Given the description of an element on the screen output the (x, y) to click on. 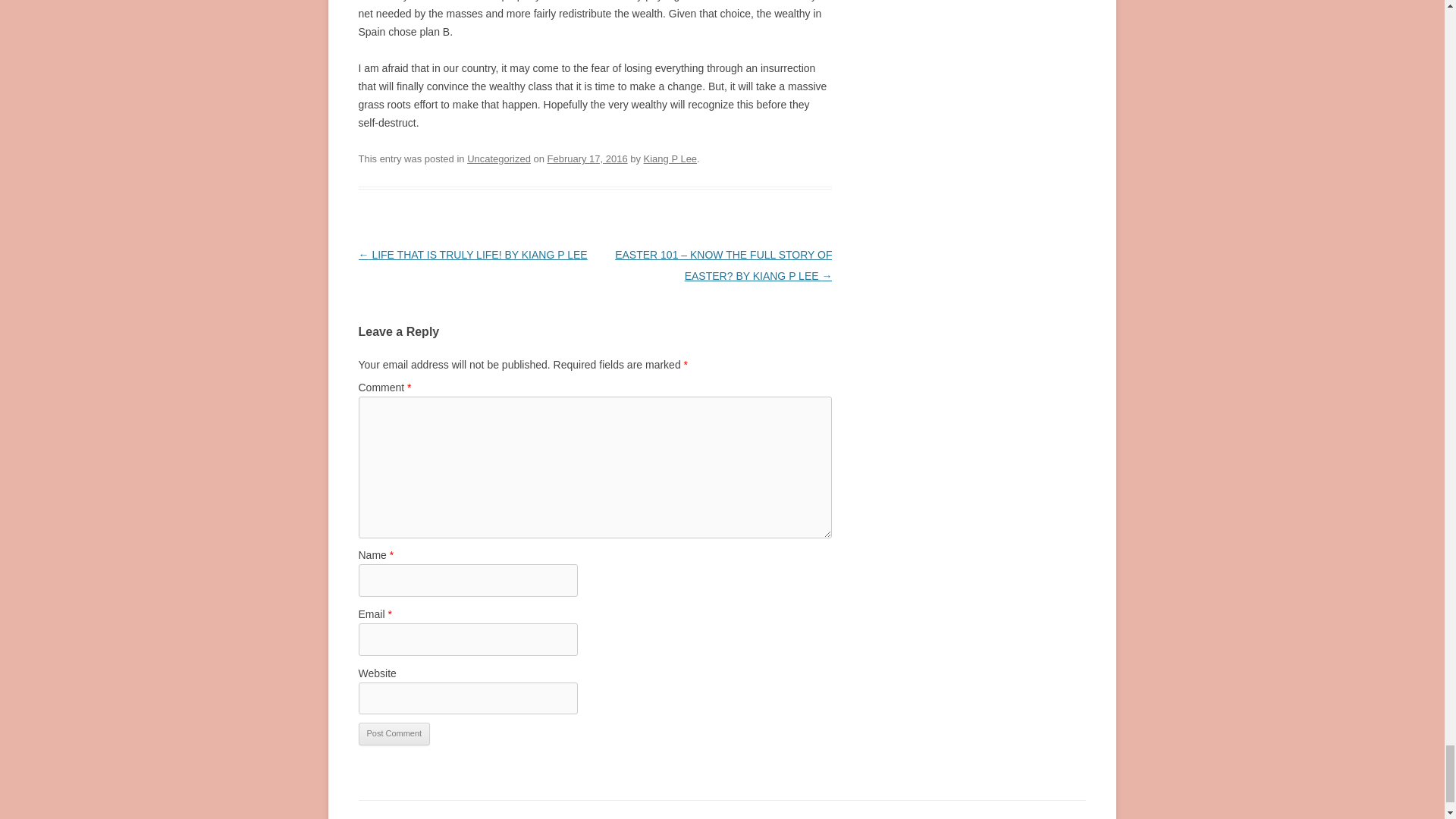
Post Comment (393, 733)
February 17, 2016 (587, 158)
Post Comment (393, 733)
11:48 am (587, 158)
View all posts by Kiang P Lee (670, 158)
Uncategorized (499, 158)
Kiang P Lee (670, 158)
